Given the description of an element on the screen output the (x, y) to click on. 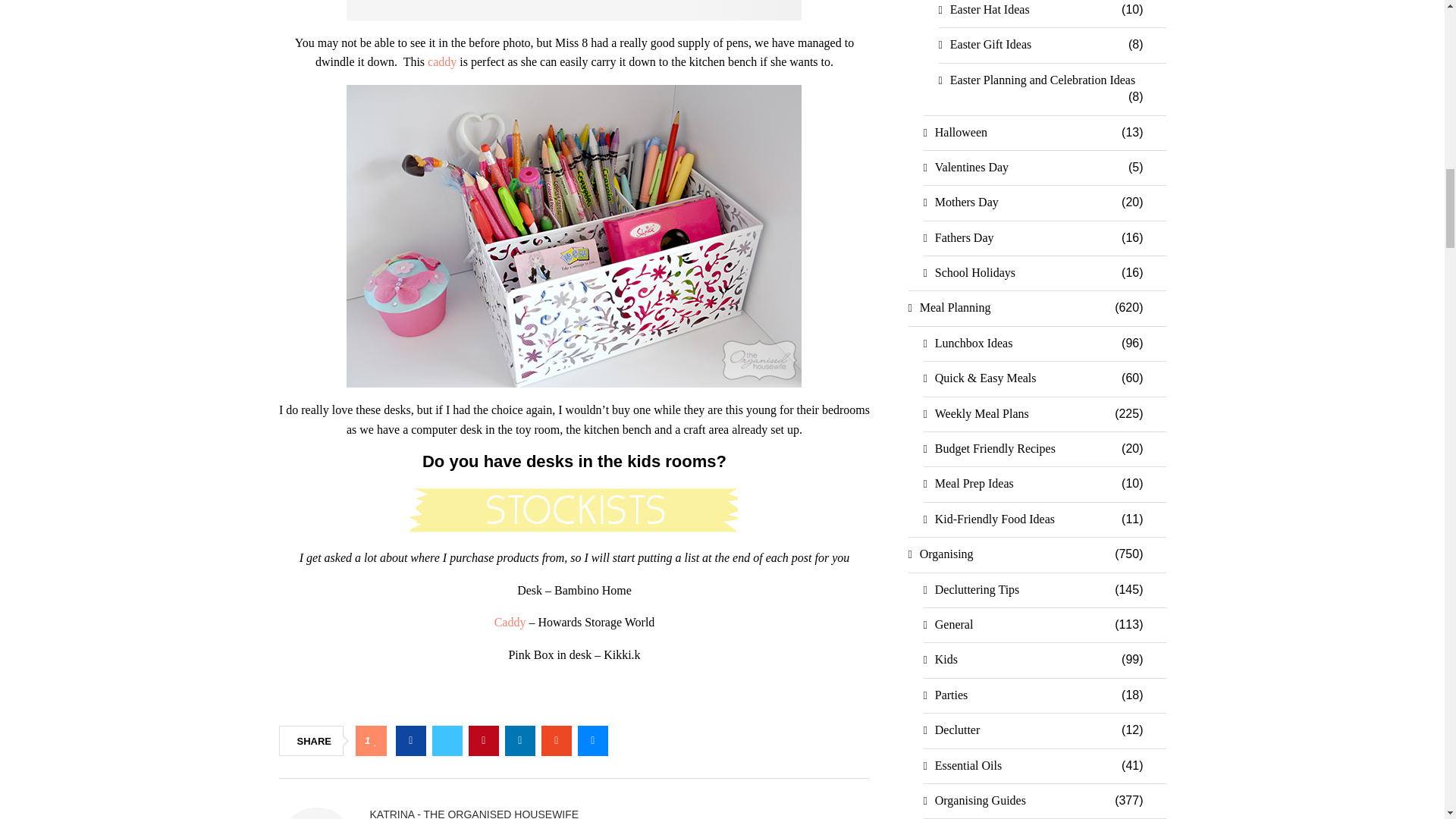
Author Katrina - The Organised Housewife (474, 813)
